Given the description of an element on the screen output the (x, y) to click on. 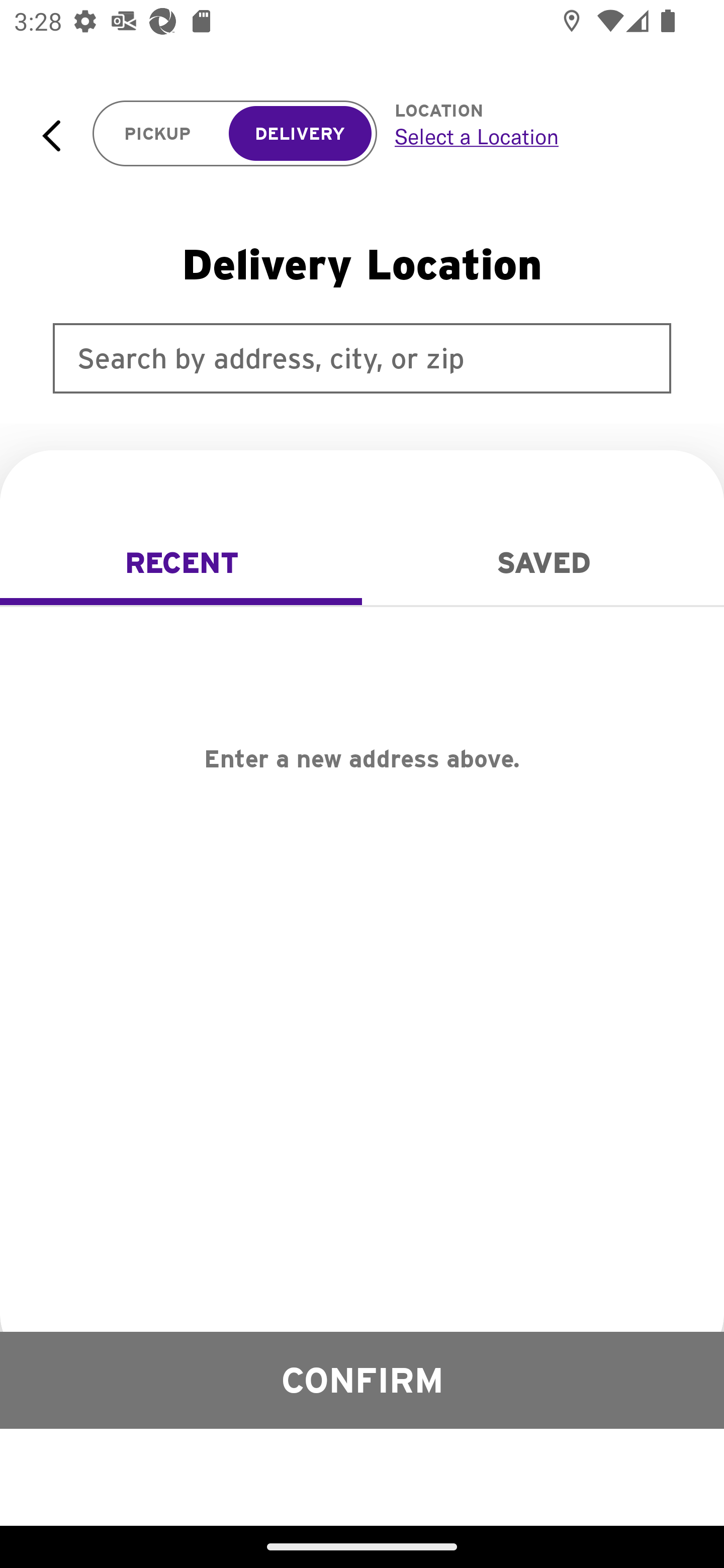
PICKUP (157, 133)
DELIVERY (299, 133)
Select a Location (536, 136)
Search by address, city, or zip (361, 358)
Saved SAVED (543, 562)
CONFIRM (362, 1379)
